Given the description of an element on the screen output the (x, y) to click on. 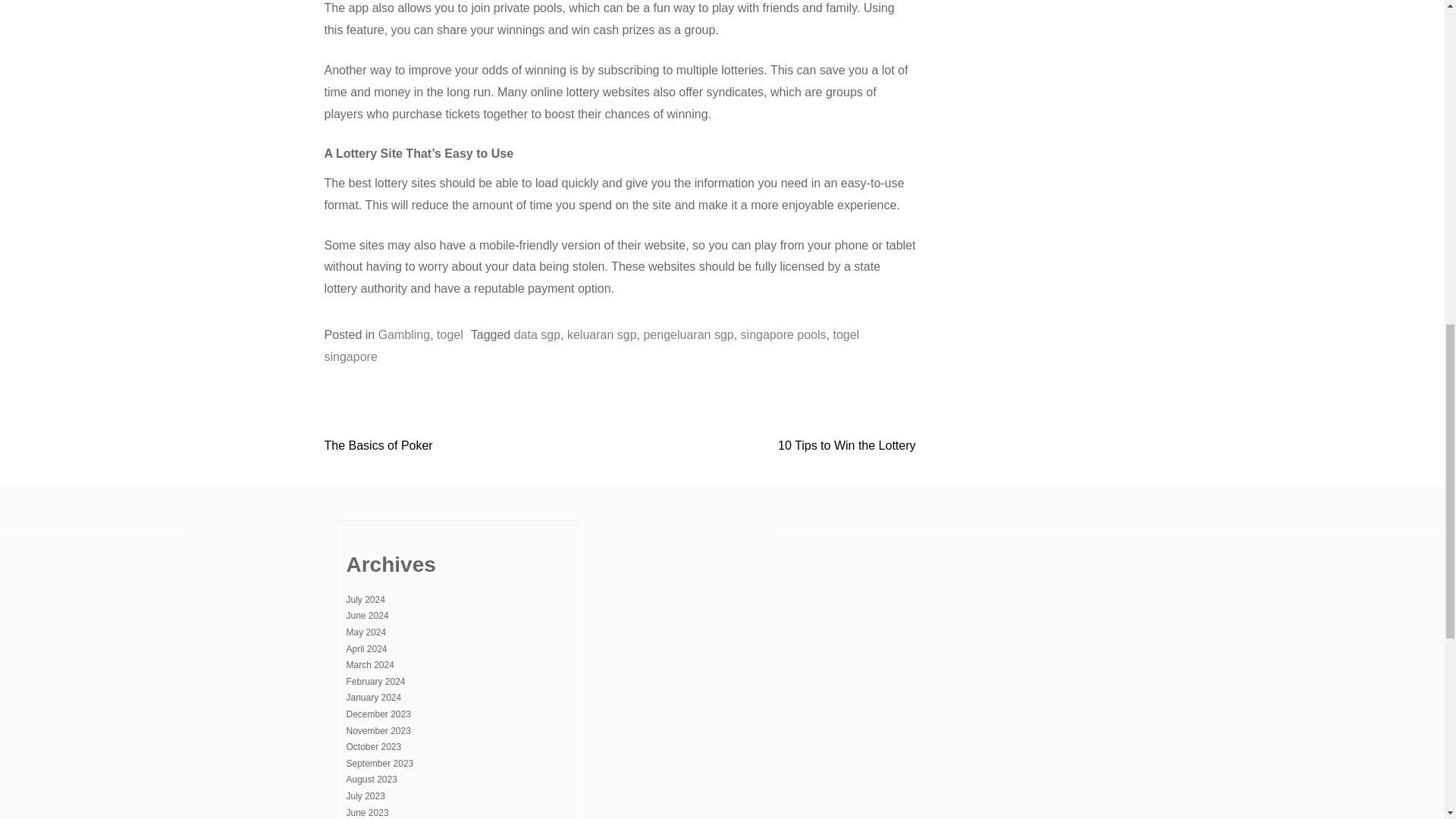
December 2023 (378, 714)
The Basics of Poker (378, 445)
Gambling (403, 334)
May 2024 (365, 632)
October 2023 (373, 747)
September 2023 (379, 763)
January 2024 (373, 697)
March 2024 (369, 665)
data sgp (536, 334)
July 2024 (365, 599)
togel singapore (592, 345)
November 2023 (378, 730)
June 2024 (367, 615)
pengeluaran sgp (688, 334)
April 2024 (366, 648)
